Given the description of an element on the screen output the (x, y) to click on. 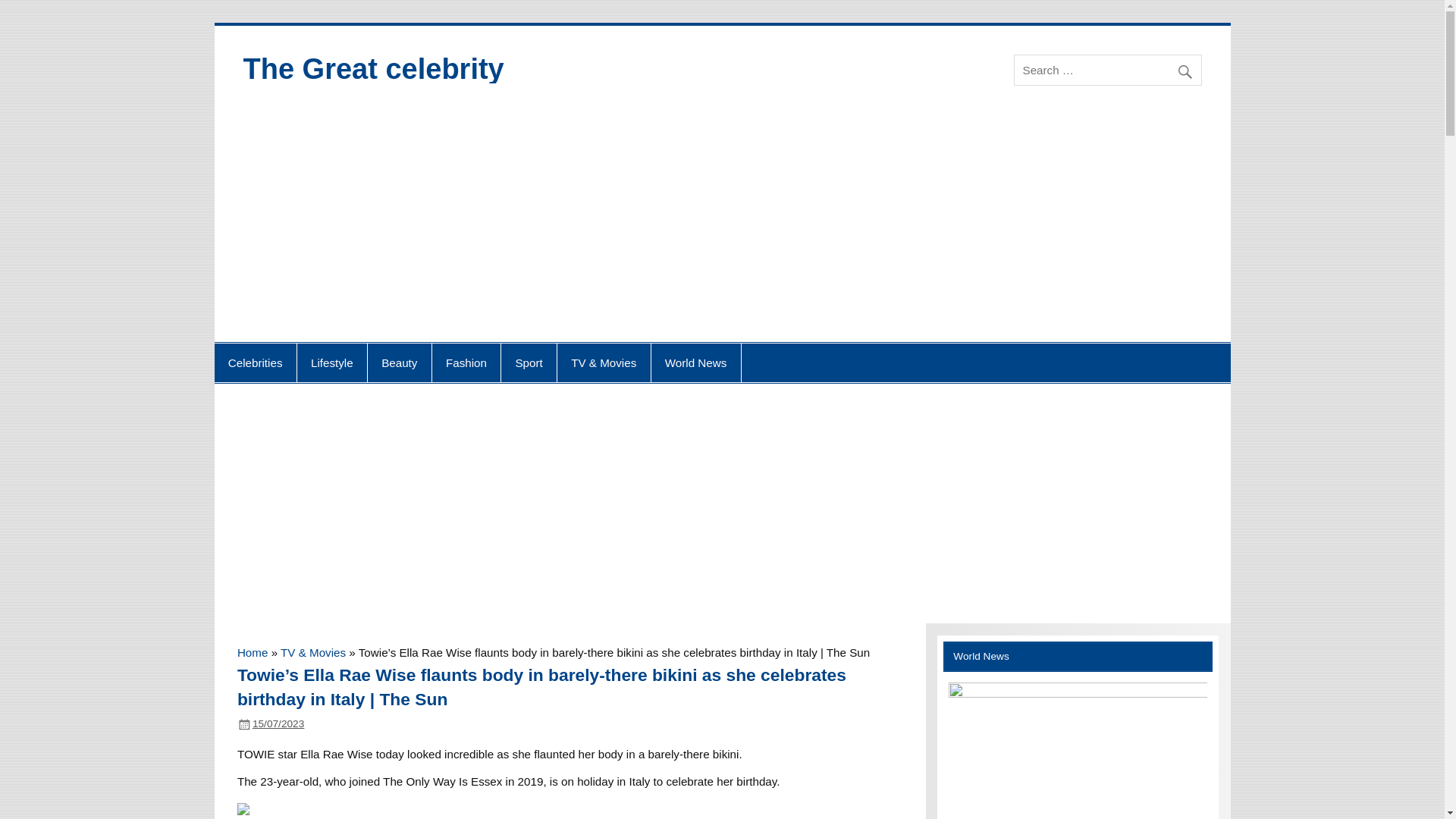
14:42 (277, 723)
Sport (528, 363)
Fashion (466, 363)
Beauty (399, 363)
World News (695, 363)
The Great celebrity (373, 69)
Celebrities (254, 363)
Home (252, 652)
Lifestyle (331, 363)
